Given the description of an element on the screen output the (x, y) to click on. 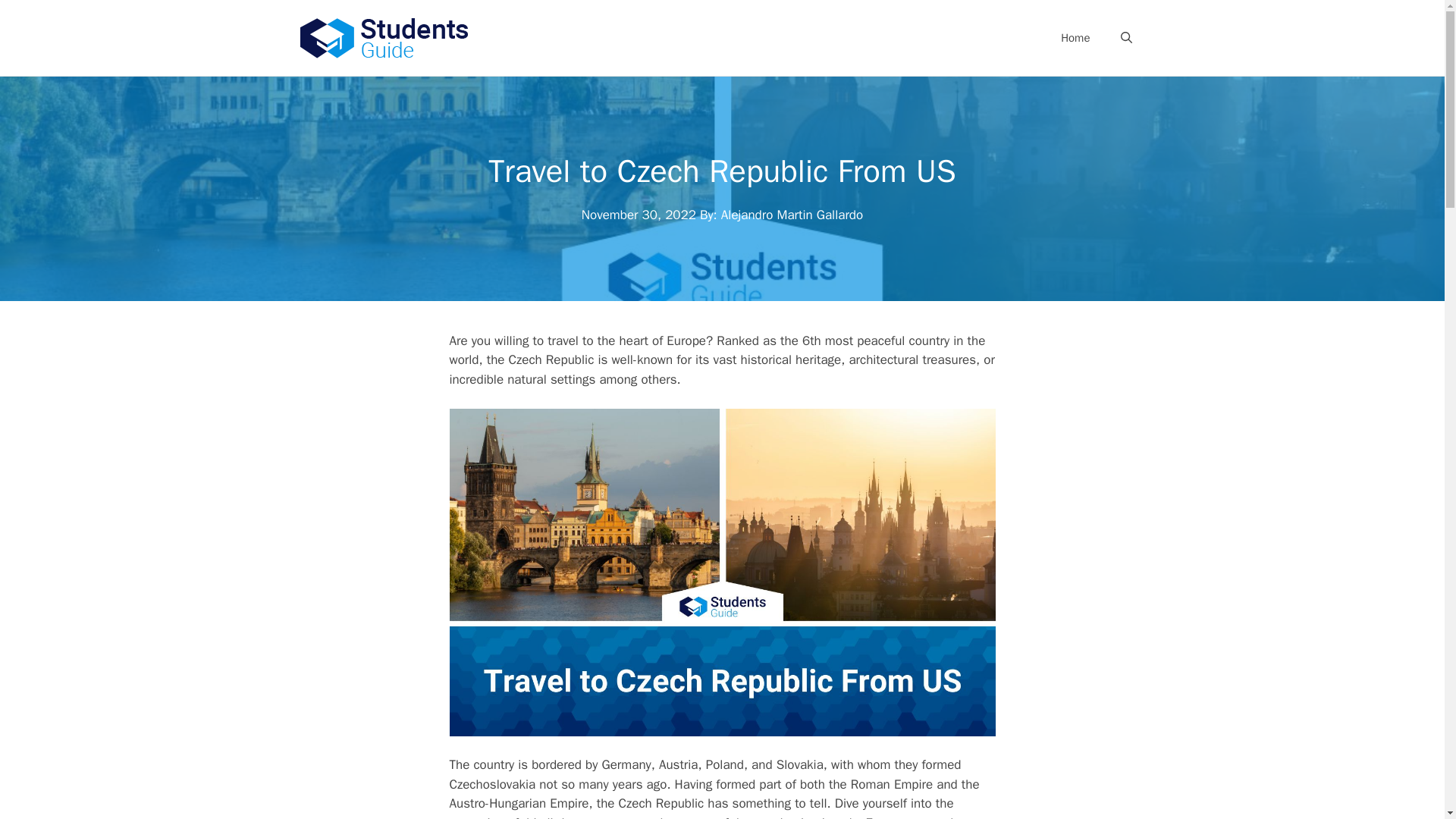
Home (1075, 37)
Students Guide (382, 37)
Students Guide (382, 36)
